Given the description of an element on the screen output the (x, y) to click on. 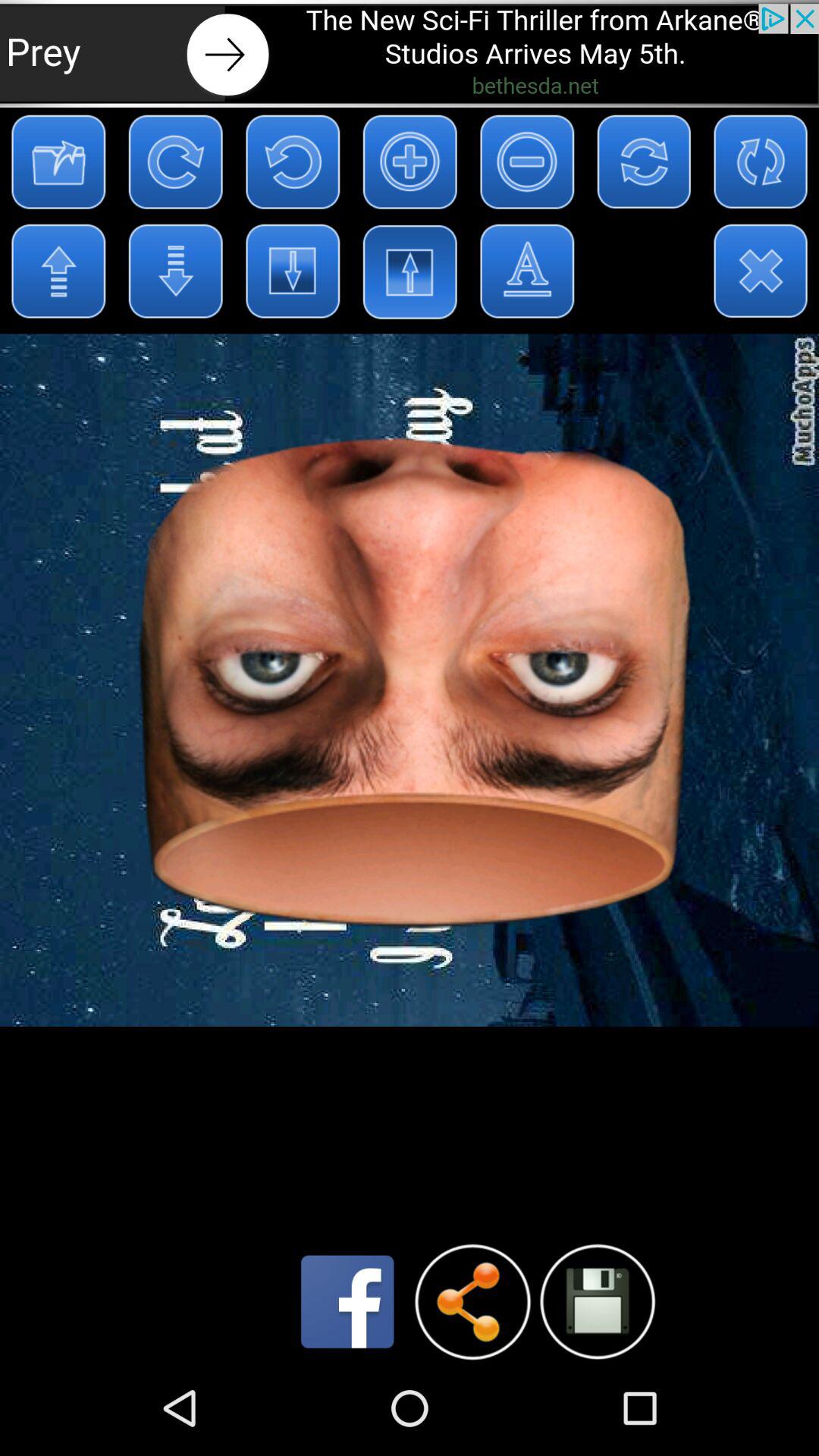
go to the advertisement page (409, 53)
